Given the description of an element on the screen output the (x, y) to click on. 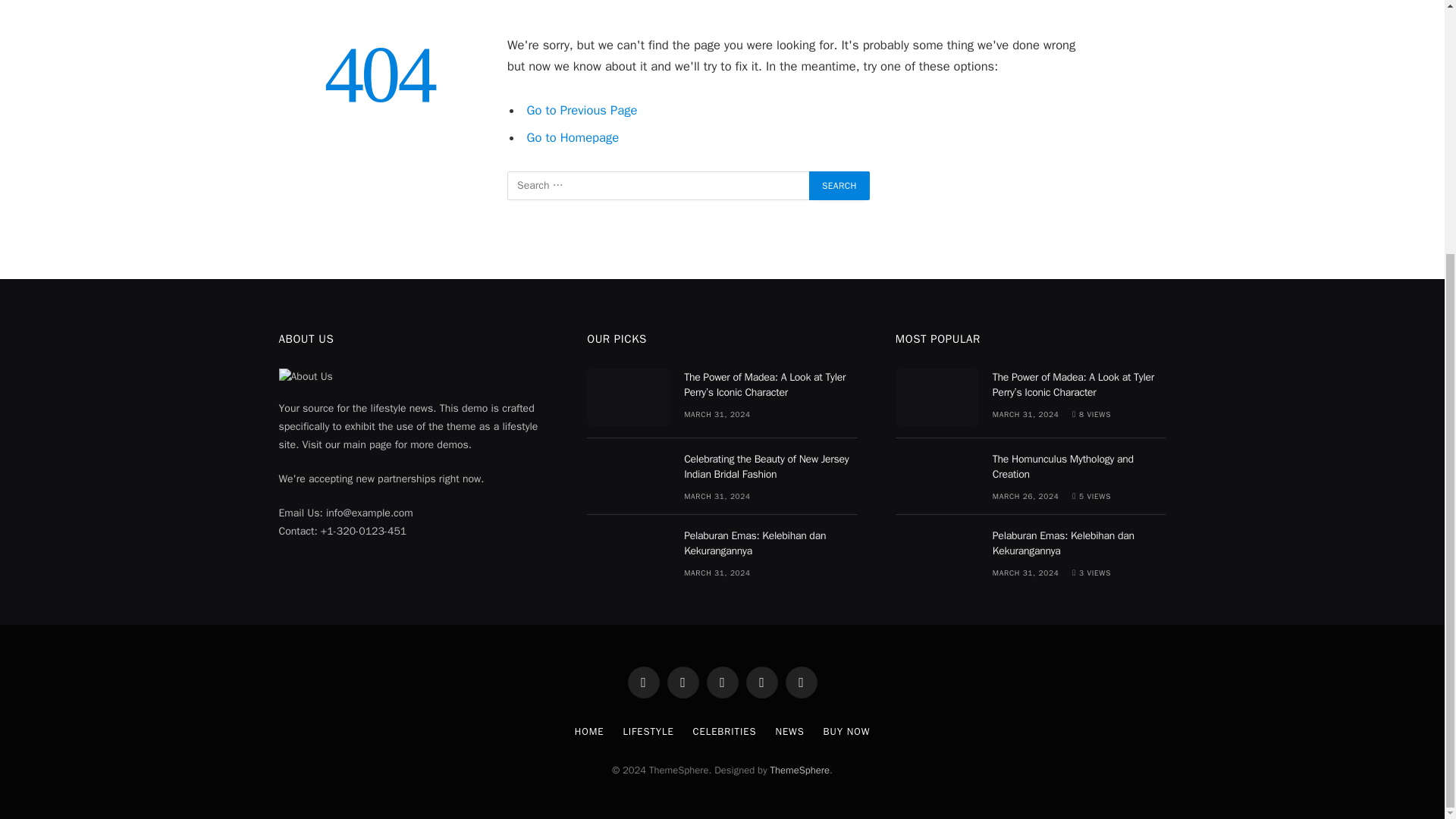
Search (839, 185)
5 Article Views (1090, 496)
3 Article Views (1090, 573)
8 Article Views (1090, 414)
Search (839, 185)
